Given the description of an element on the screen output the (x, y) to click on. 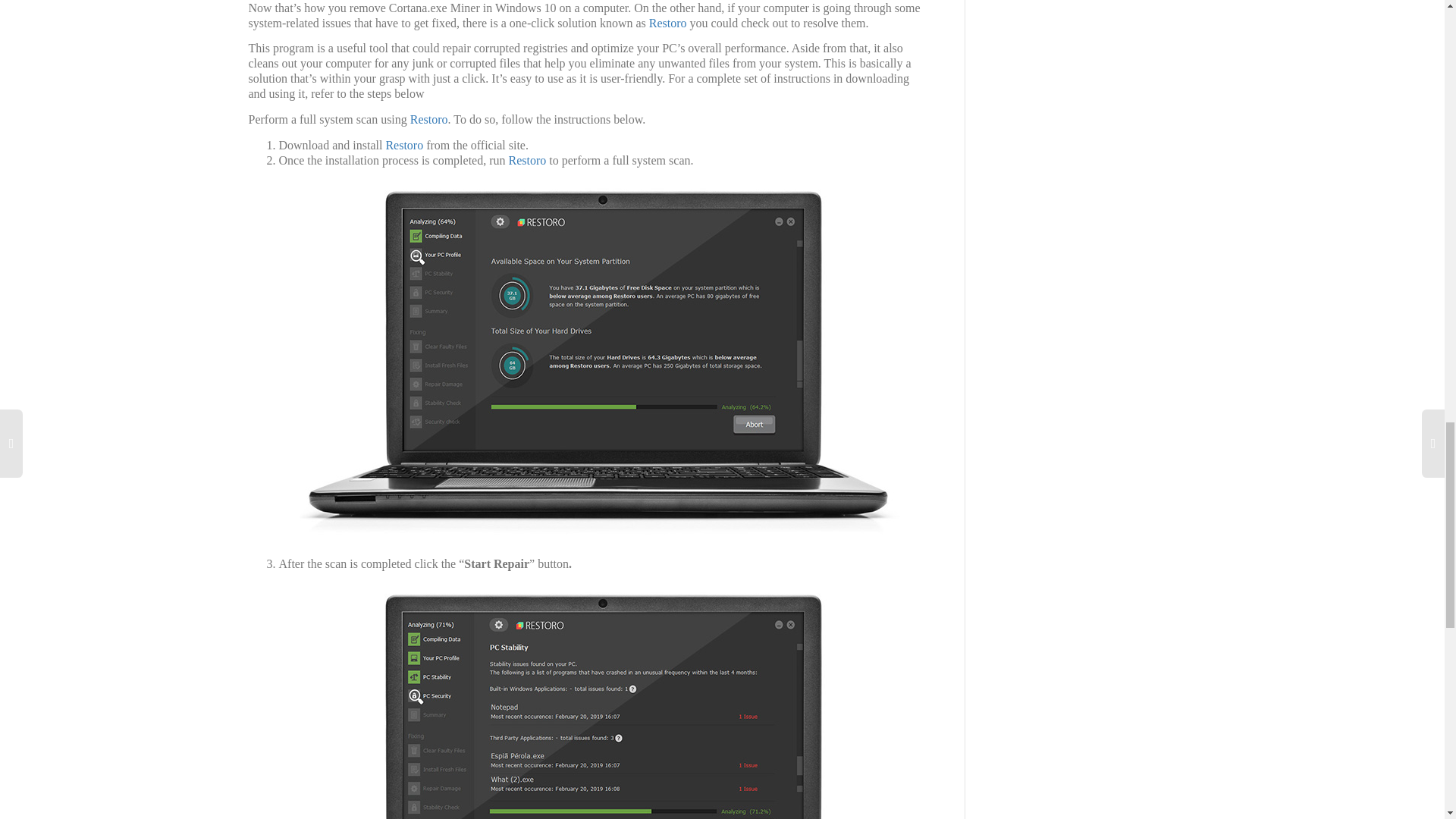
Restoro (404, 144)
Restoro (429, 119)
Restoro (527, 160)
Restoro (668, 22)
